Given the description of an element on the screen output the (x, y) to click on. 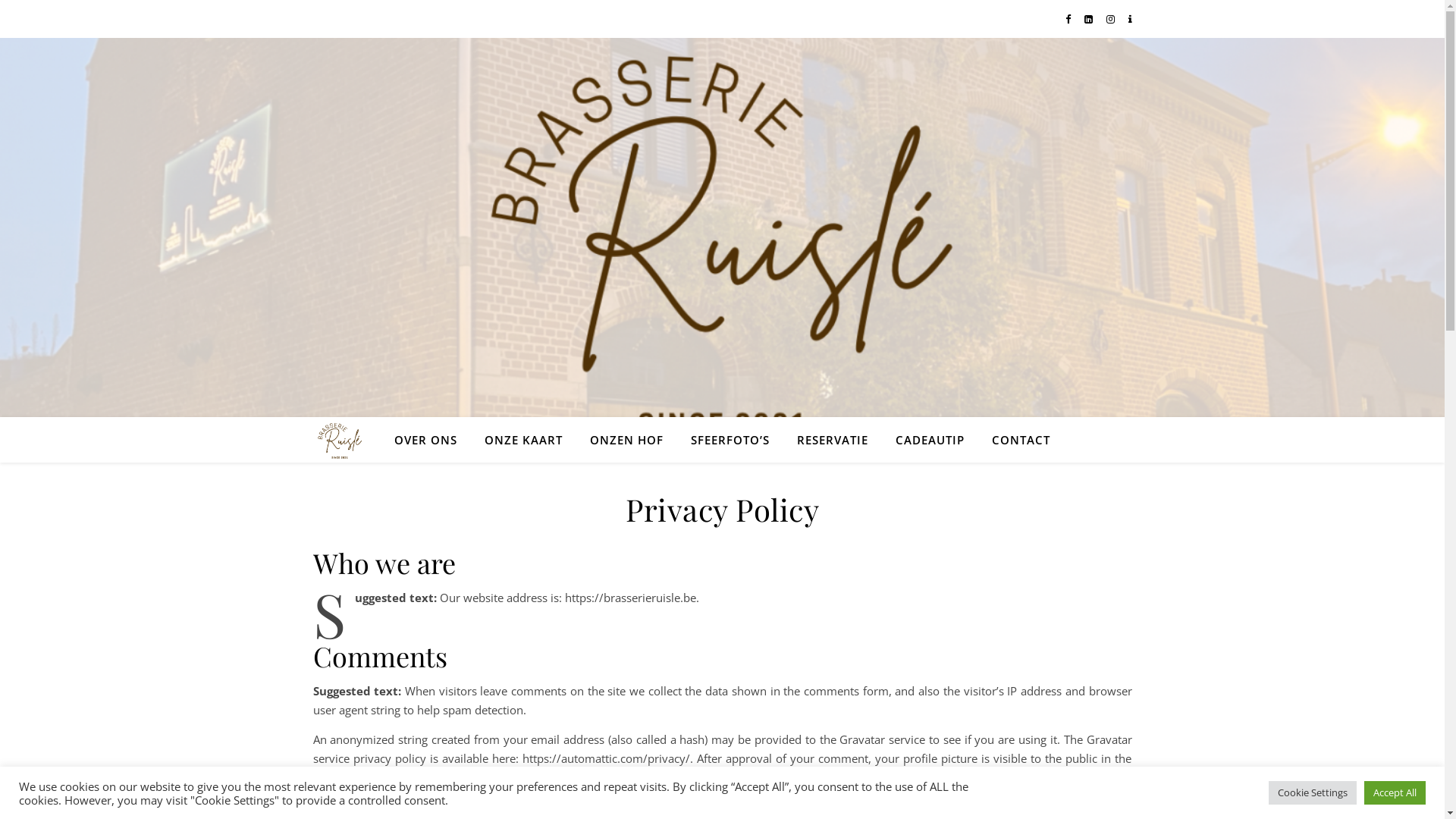
RESERVATIE Element type: text (832, 439)
Cookie Settings Element type: text (1312, 792)
Accept All Element type: text (1394, 792)
OVER ONS Element type: text (431, 439)
ONZEN HOF Element type: text (626, 439)
CADEAUTIP Element type: text (929, 439)
ONZE KAART Element type: text (523, 439)
CONTACT Element type: text (1014, 439)
